Given the description of an element on the screen output the (x, y) to click on. 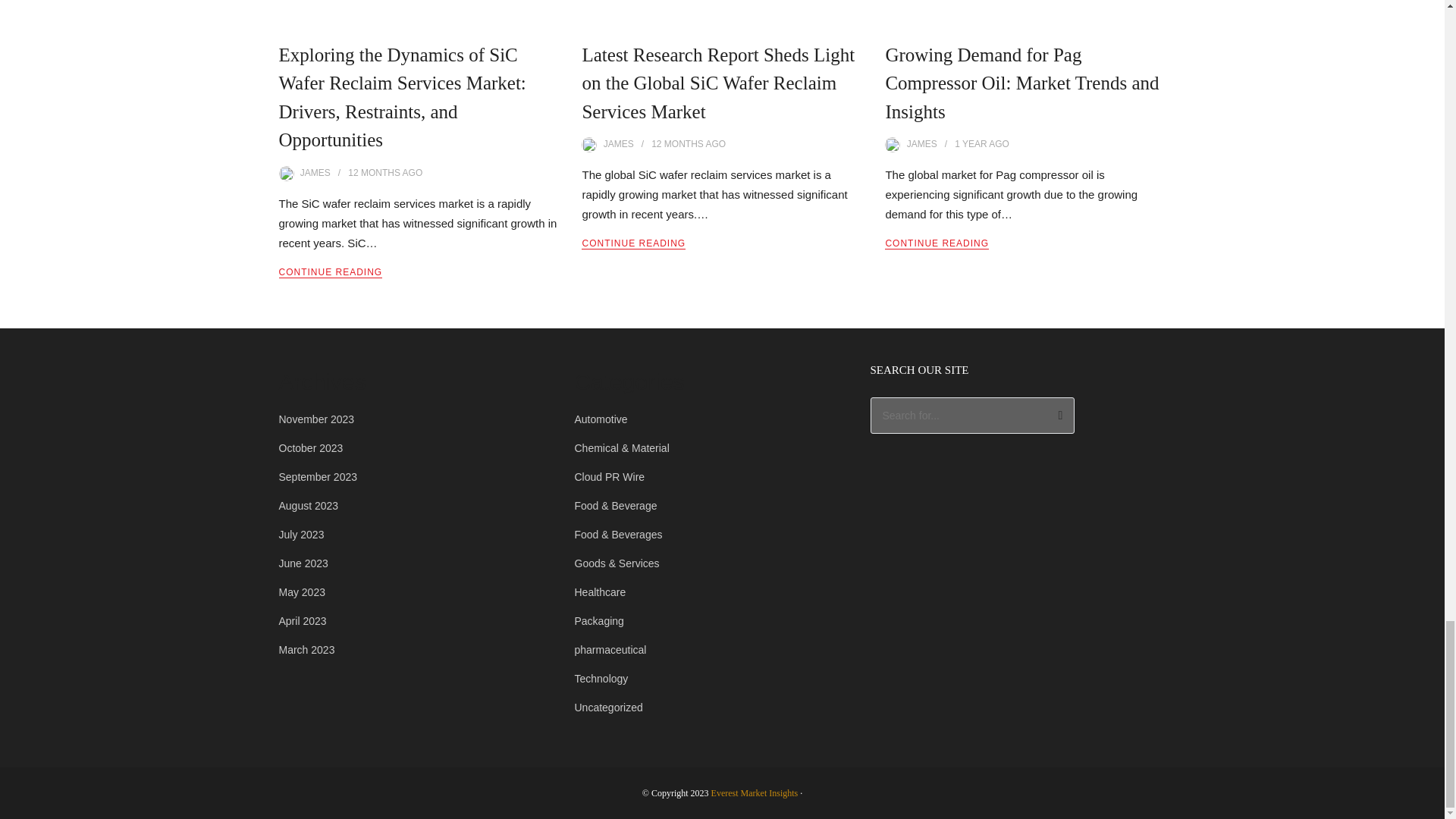
Search for: (972, 415)
